Given the description of an element on the screen output the (x, y) to click on. 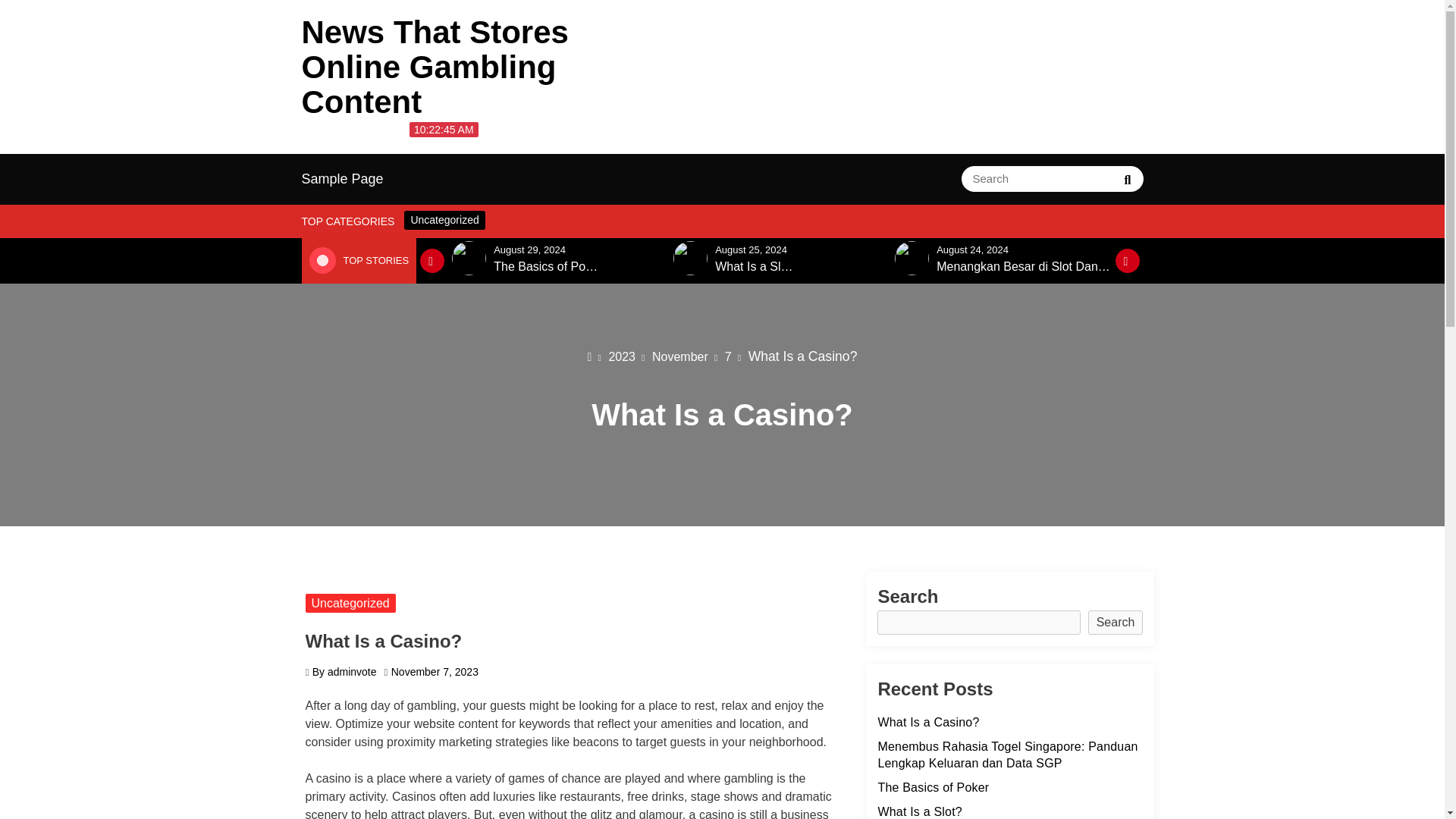
News That Stores Online Gambling Content (435, 66)
August 25, 2024 (750, 249)
Sample Page (342, 178)
The Basics of Poker (547, 266)
Search (1127, 178)
Uncategorized (444, 220)
August 29, 2024 (529, 249)
What Is a Slot? (755, 266)
August 24, 2024 (972, 249)
